Given the description of an element on the screen output the (x, y) to click on. 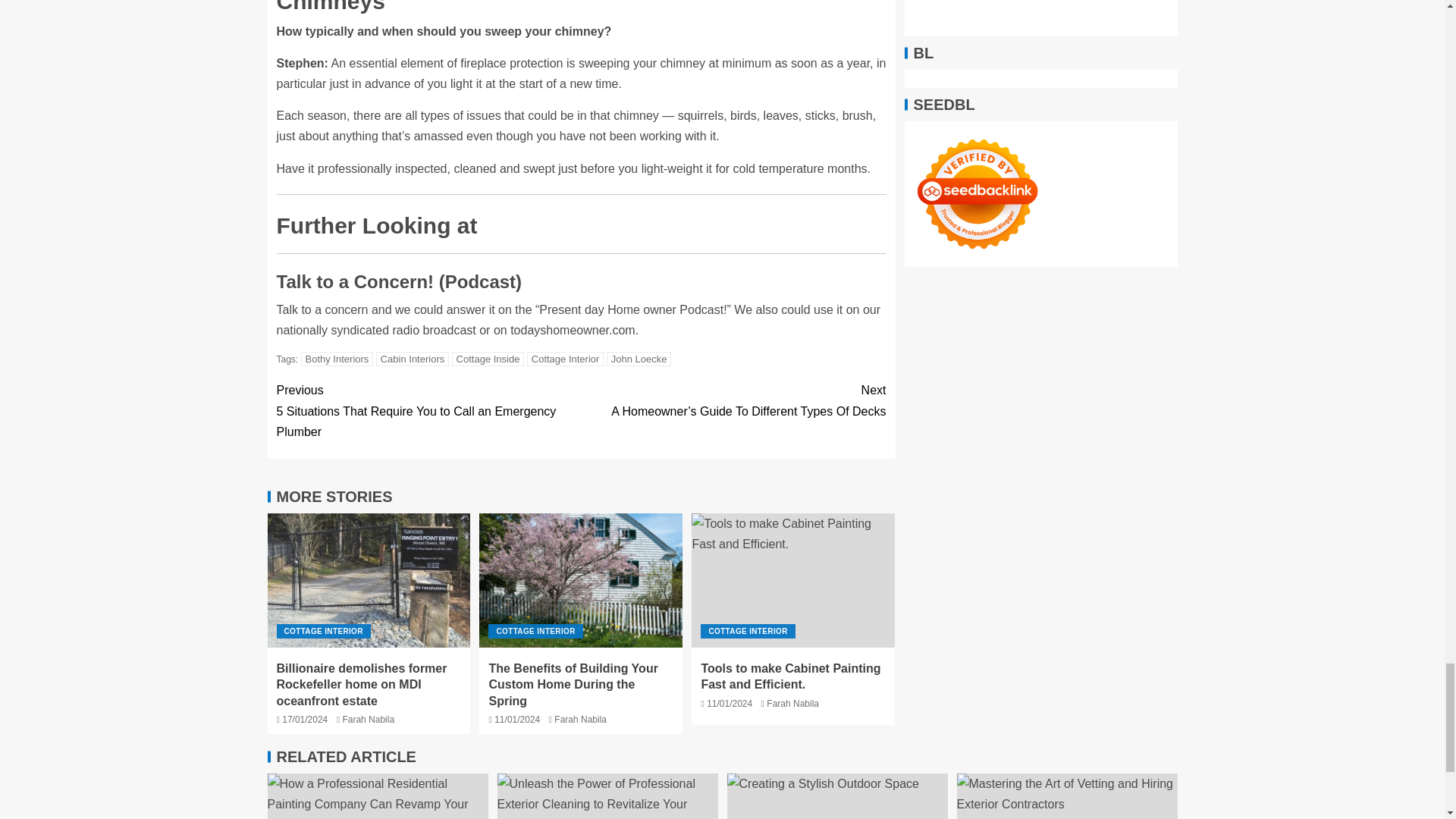
Cottage Inside (487, 359)
The Benefits of Building Your Custom Home During the Spring (580, 580)
John Loecke (639, 359)
Tools to make Cabinet Painting Fast and Efficient. (793, 580)
Cottage Interior (565, 359)
Cabin Interiors (412, 359)
Bothy Interiors (337, 359)
